Given the description of an element on the screen output the (x, y) to click on. 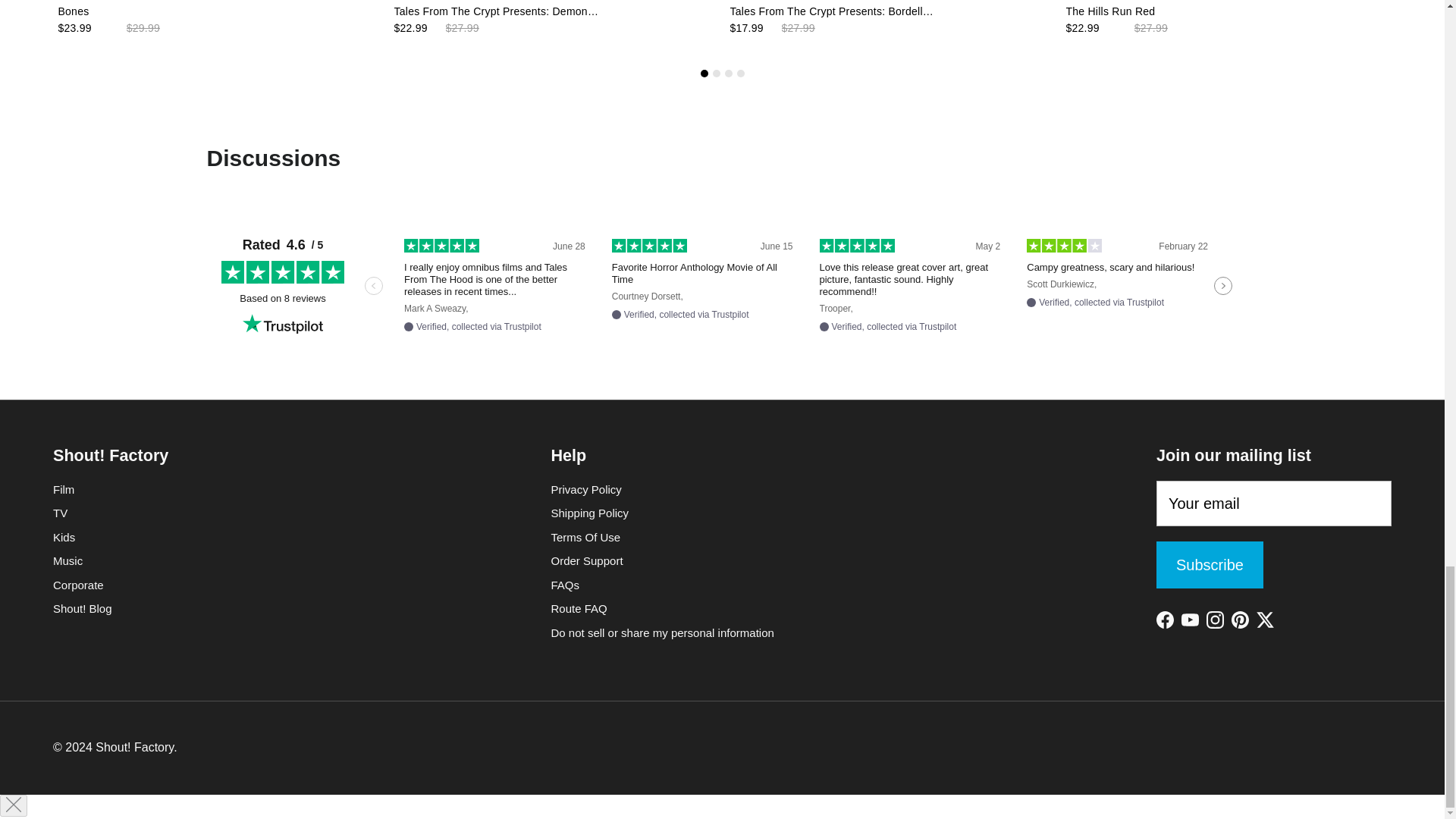
Shout! Factory on YouTube (1189, 619)
Shout! Factory on Twitter (1265, 619)
Shout! Factory on Pinterest (1240, 619)
Shout! Factory on Instagram (1215, 619)
Shout! Factory on Facebook (1164, 619)
Customer reviews powered by Trustpilot (721, 285)
